Given the description of an element on the screen output the (x, y) to click on. 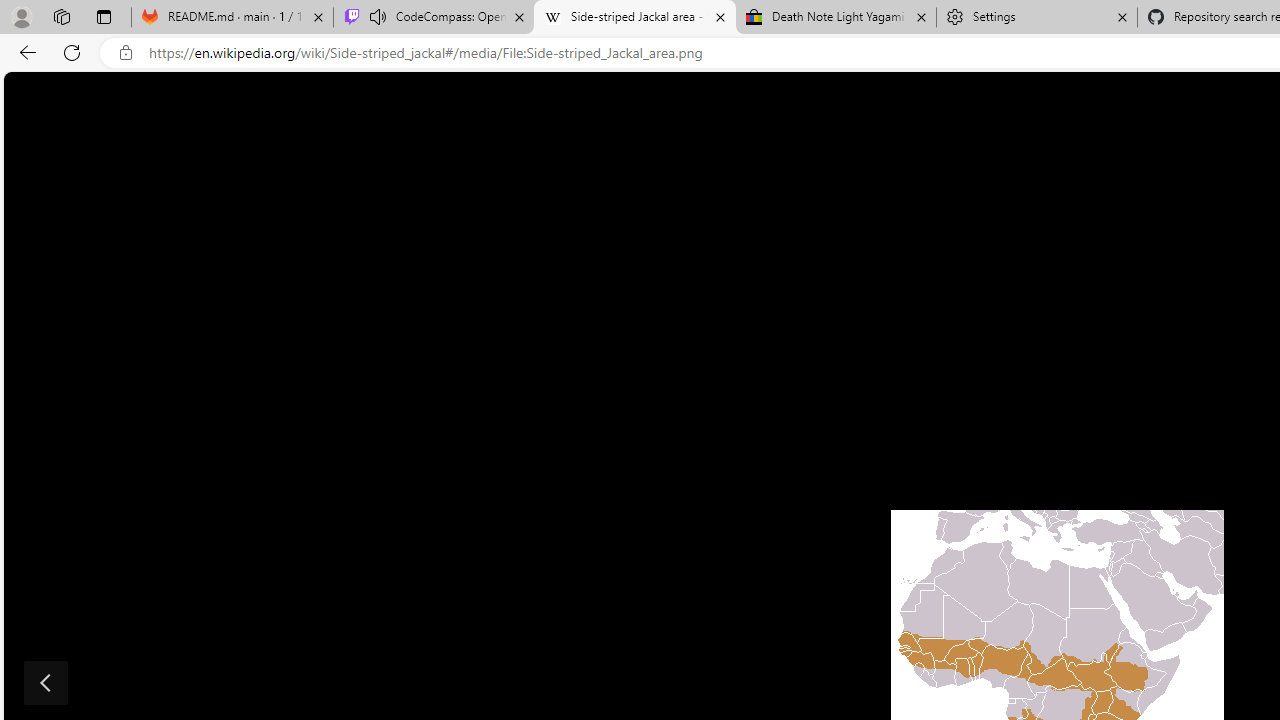
Mute tab (377, 16)
Show previous image (45, 682)
Side-striped Jackal area - Side-striped jackal - Wikipedia (634, 17)
